Given the description of an element on the screen output the (x, y) to click on. 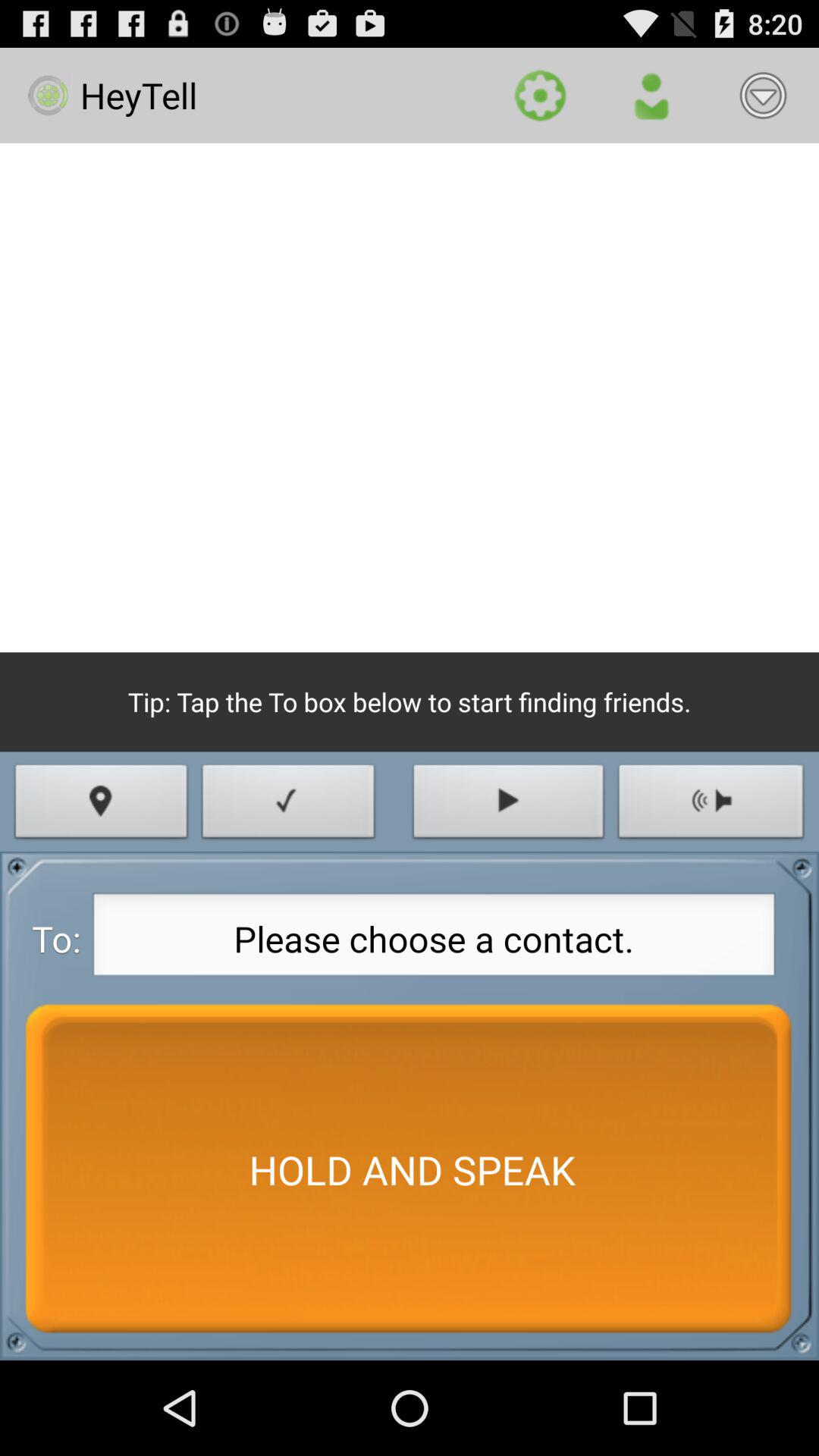
select the icon above the tip tap the icon (409, 397)
